Given the description of an element on the screen output the (x, y) to click on. 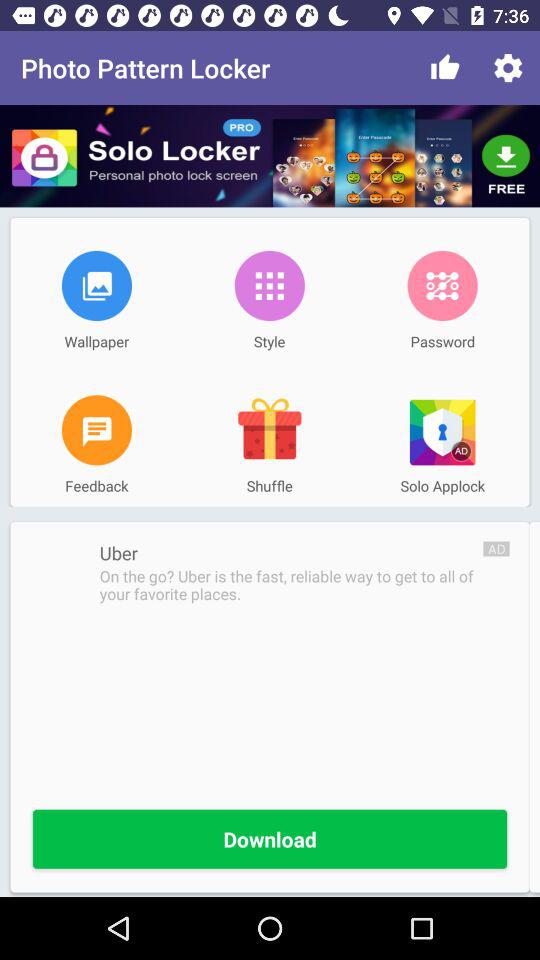
turn on the item next to the feedback (269, 430)
